Given the description of an element on the screen output the (x, y) to click on. 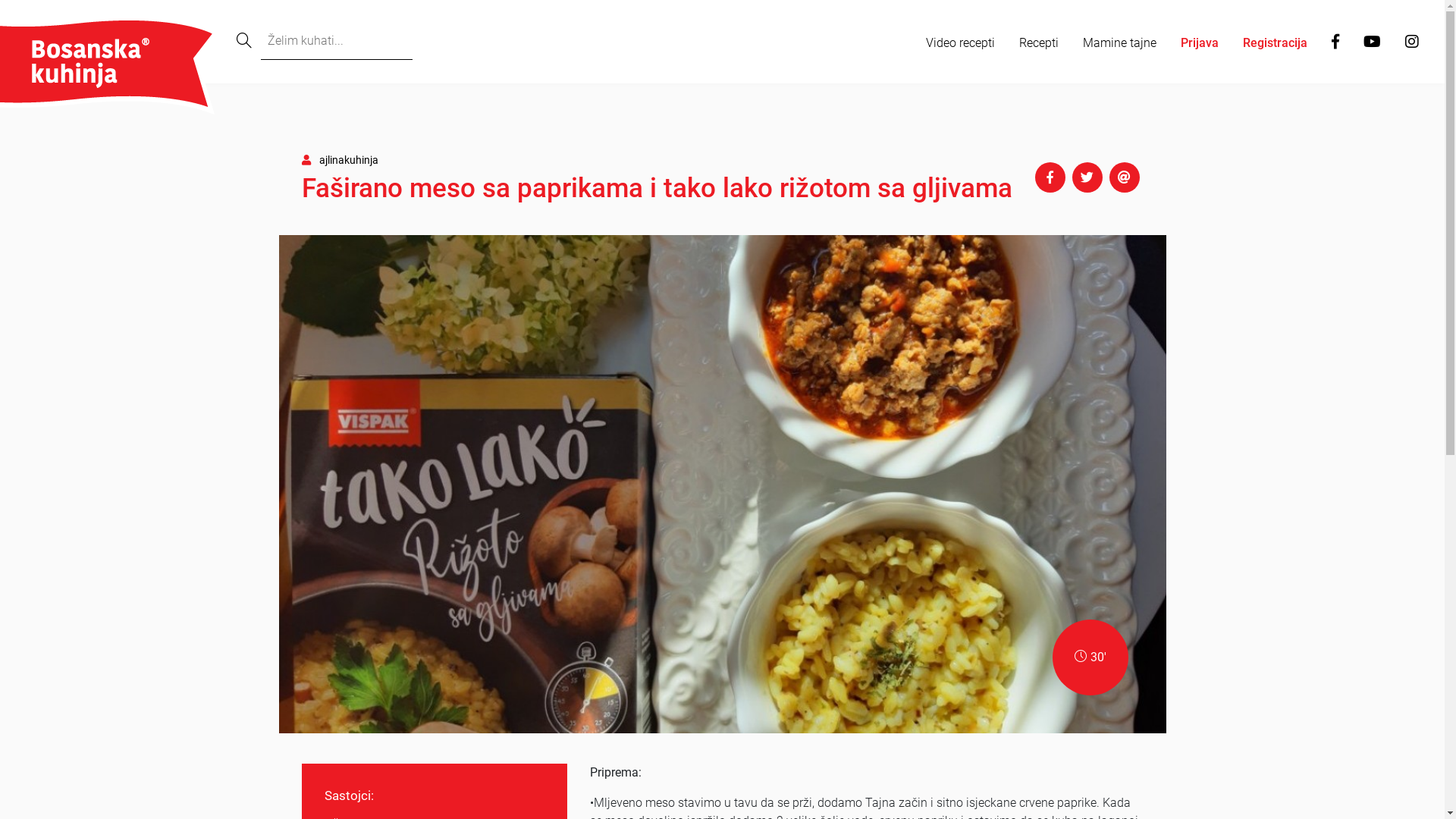
Video recepti Element type: text (960, 42)
Prijava Element type: text (1199, 42)
Registracija Element type: text (1274, 42)
Mamine tajne Element type: text (1119, 42)
Recepti Element type: text (1038, 42)
